Given the description of an element on the screen output the (x, y) to click on. 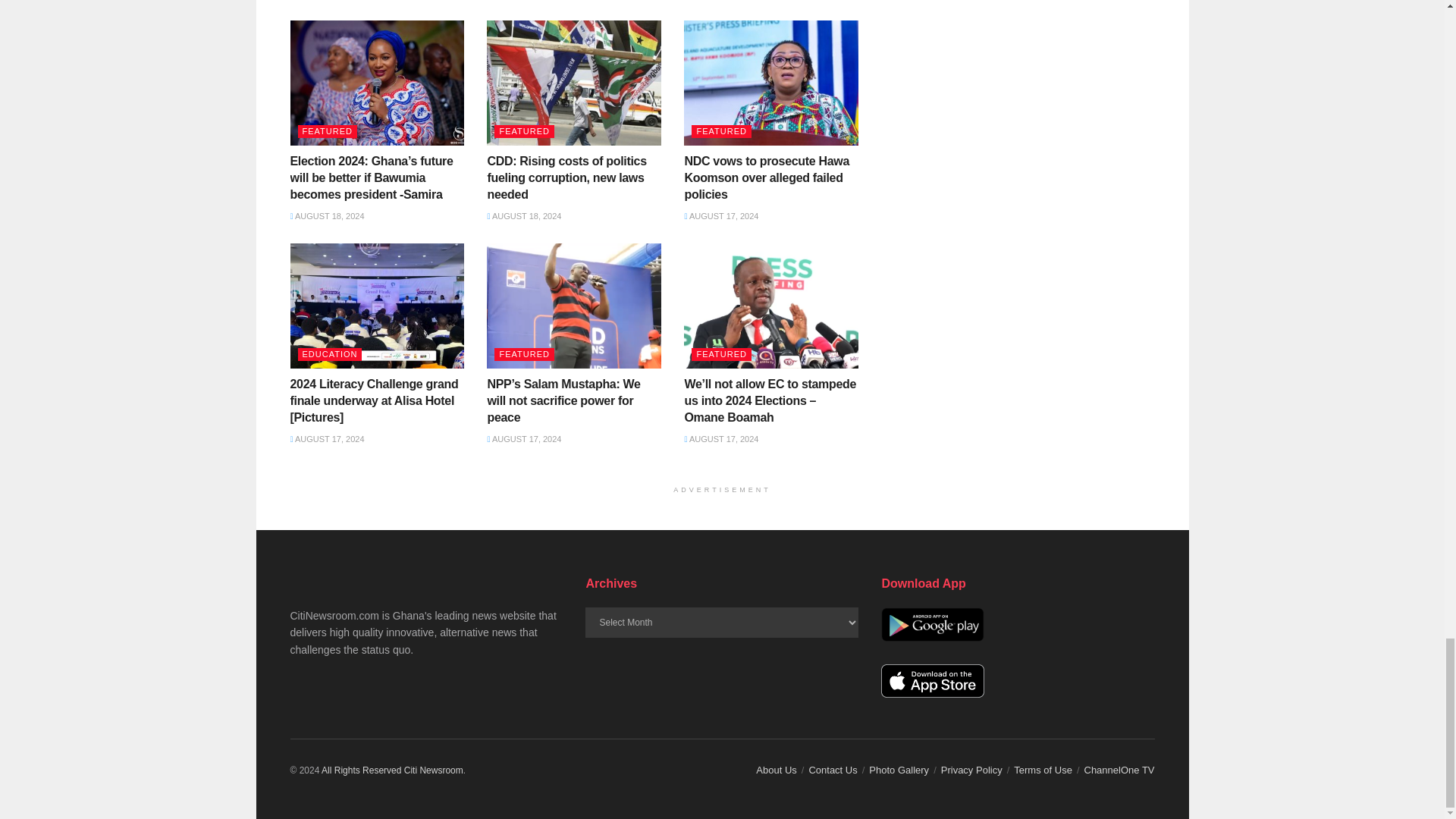
App Store (932, 681)
Google Play (932, 624)
Citi Newsroom (361, 769)
Citi Newsroom (433, 769)
